Given the description of an element on the screen output the (x, y) to click on. 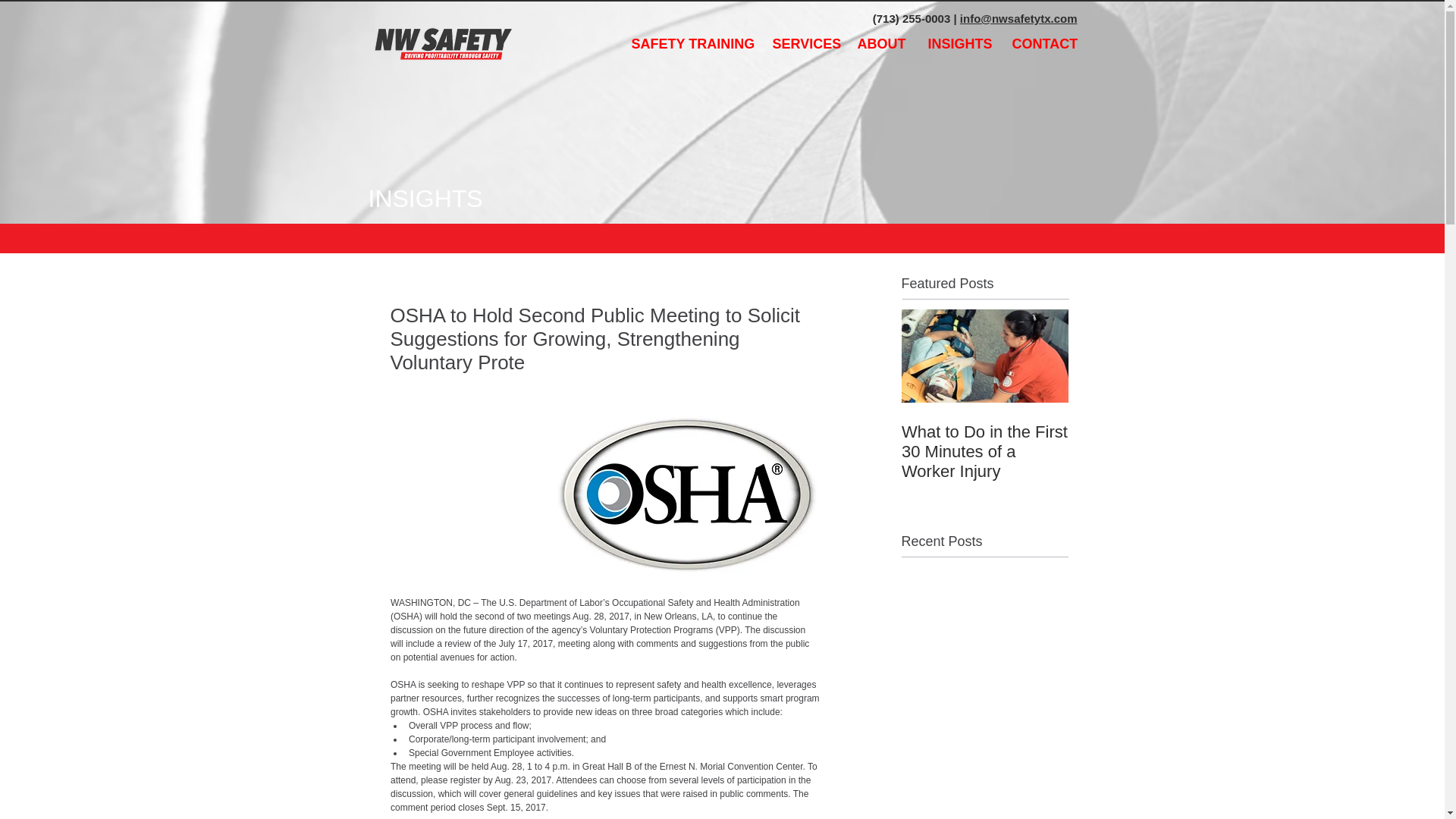
What to Do in the First 30 Minutes of a Worker Injury (984, 451)
White Logo.png (439, 41)
CONTACT (1044, 44)
ABOUT (881, 44)
SAFETY TRAINING (690, 44)
SERVICES (803, 44)
INSIGHTS (957, 44)
